Given the description of an element on the screen output the (x, y) to click on. 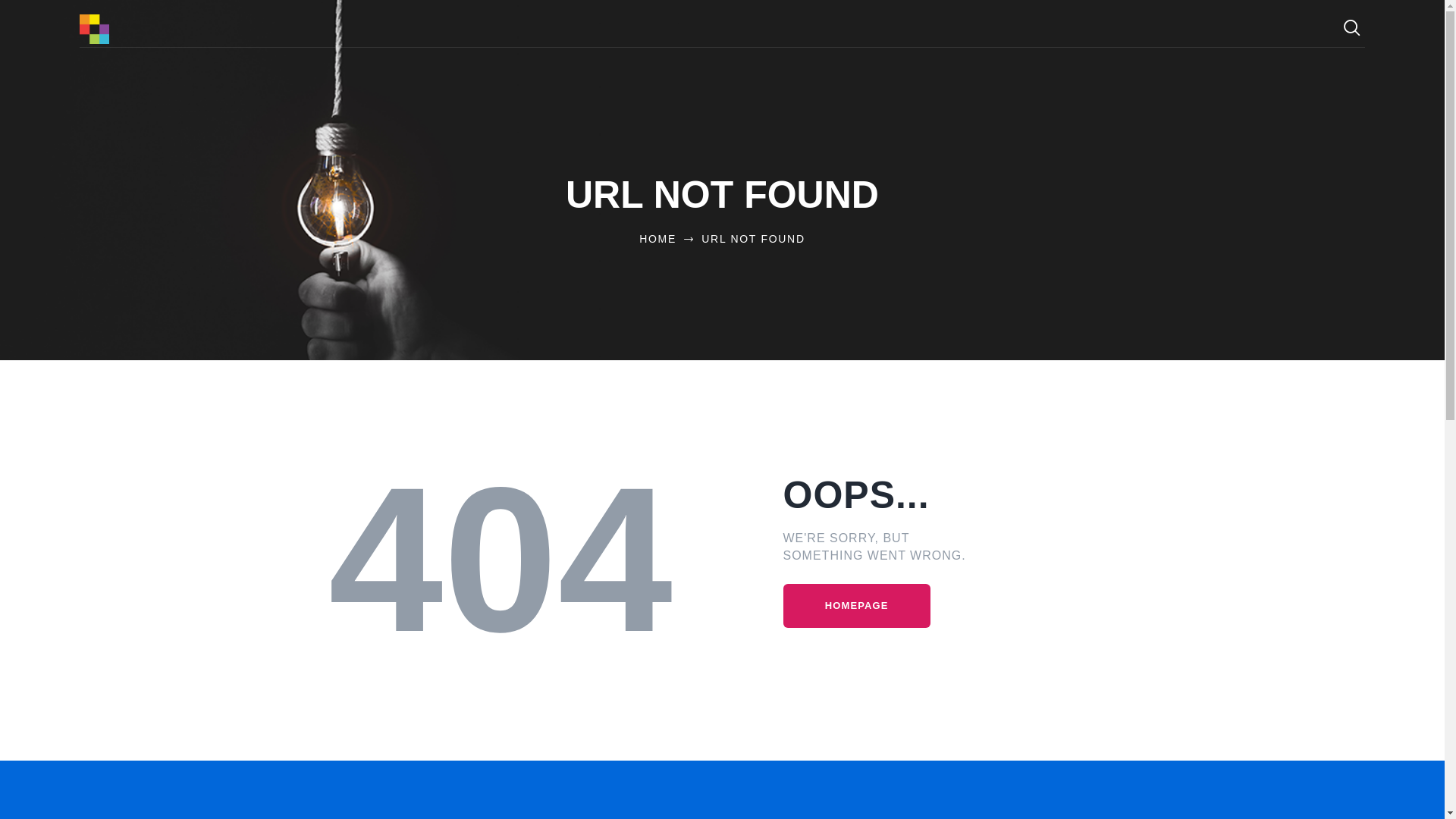
HOME (658, 238)
HOMEPAGE (856, 605)
